Given the description of an element on the screen output the (x, y) to click on. 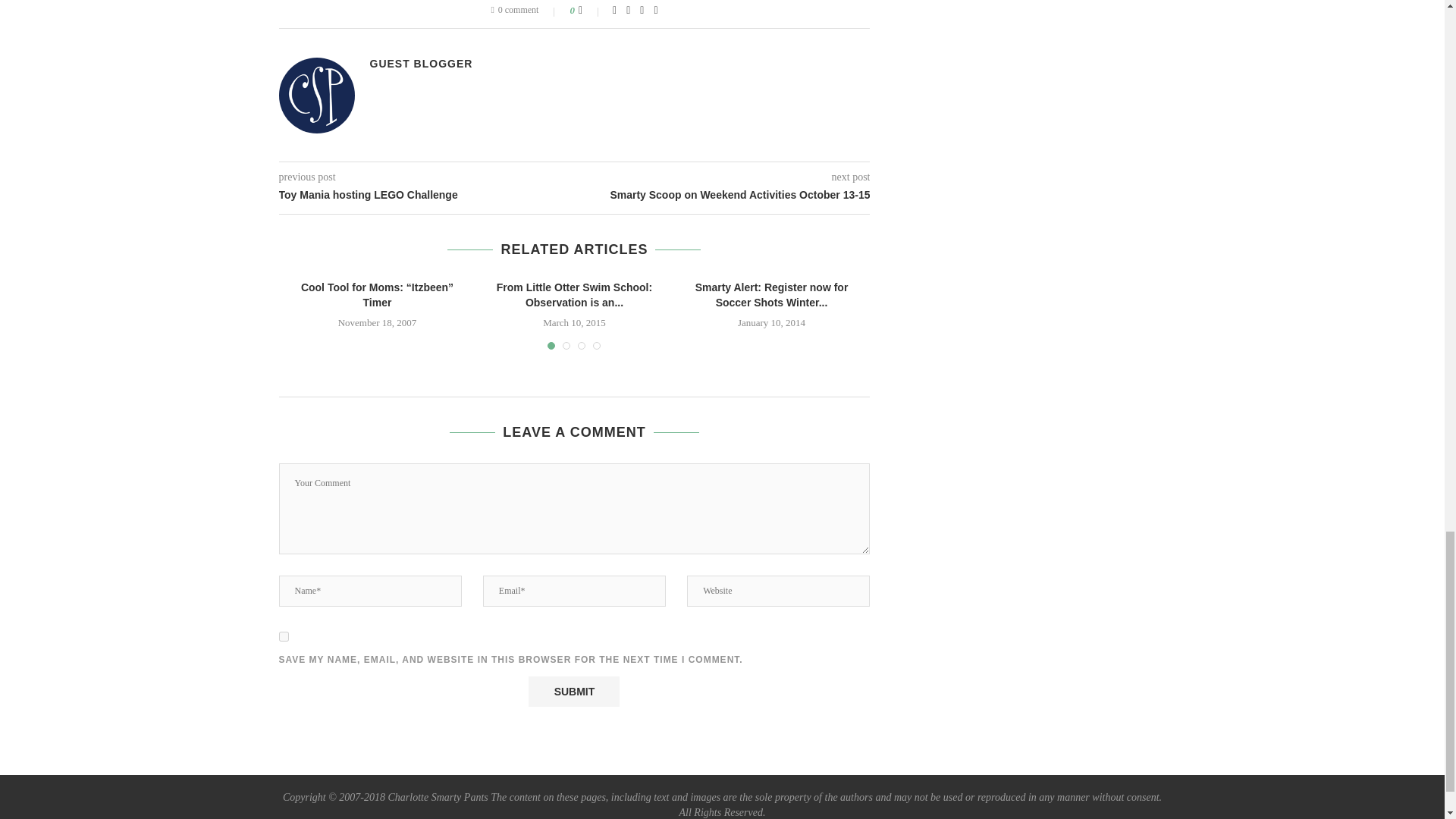
Like (590, 10)
yes (283, 636)
Submit (574, 691)
Posts by Guest Blogger (421, 63)
